Given the description of an element on the screen output the (x, y) to click on. 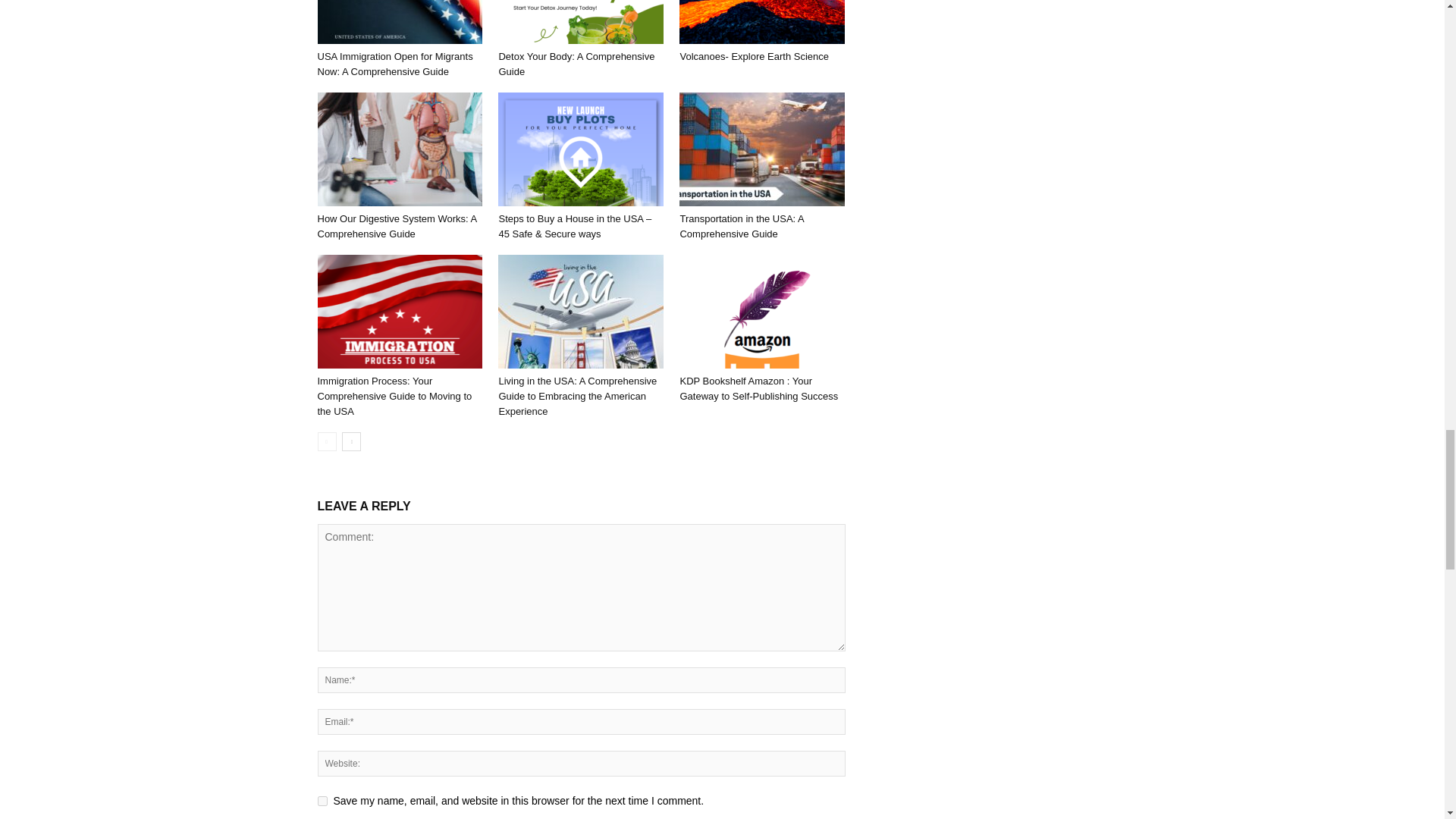
yes (321, 800)
